Given the description of an element on the screen output the (x, y) to click on. 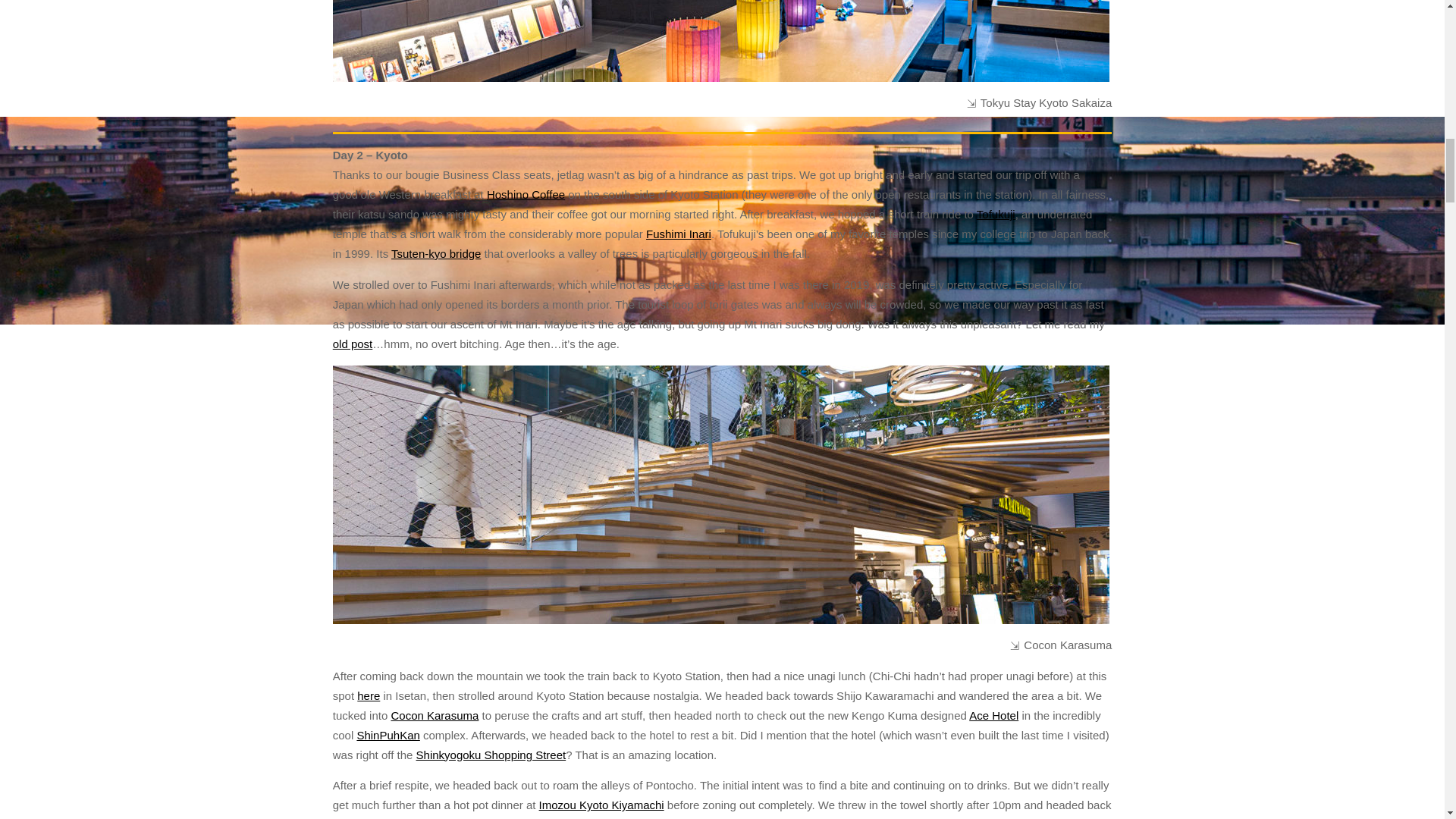
ShinPuhKan (387, 735)
Fushimi Inari (678, 233)
Cocon Karasuma (434, 715)
Hoshino Coffee (525, 194)
Imozou Kyoto Kiyamachi (600, 804)
Tofukuji (995, 214)
Tsuten-kyo bridge (435, 253)
Shinkyogoku Shopping Street (491, 753)
here (368, 695)
Ace Hotel (993, 715)
old post (352, 343)
